Given the description of an element on the screen output the (x, y) to click on. 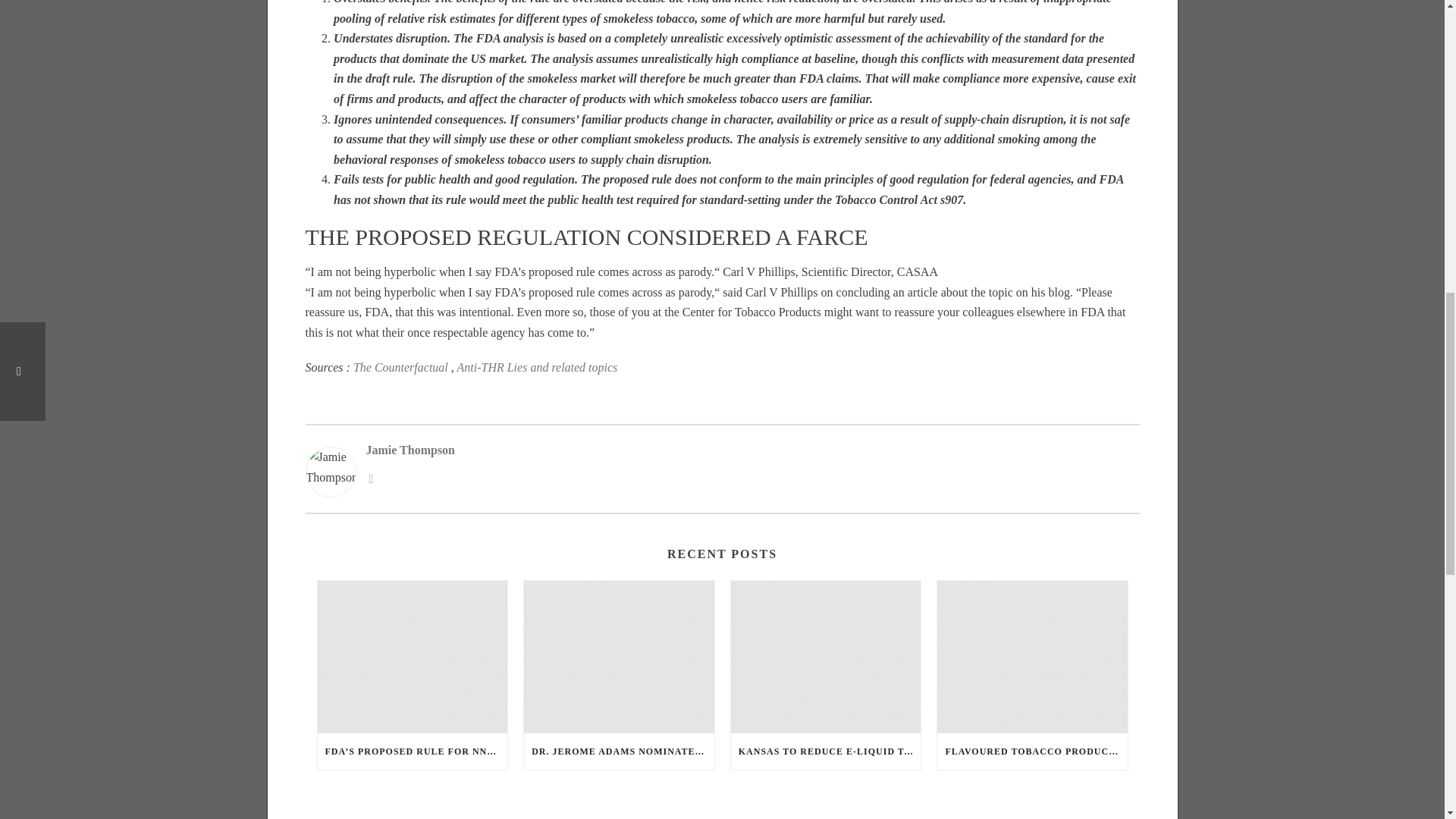
Dr. Jerome Adams nominated as the next US Surgeon General (619, 656)
Kansas to reduce e-liquid tax (825, 656)
Anti-THR Lies and related topics (537, 367)
Jamie Thompson (751, 450)
KANSAS TO REDUCE E-LIQUID TAX (825, 751)
Flavoured tobacco products banned in San Francisco (1031, 656)
DR. JEROME ADAMS NOMINATED AS THE NEXT US SURGEON GENERAL (619, 751)
The Counterfactual (400, 367)
